Given the description of an element on the screen output the (x, y) to click on. 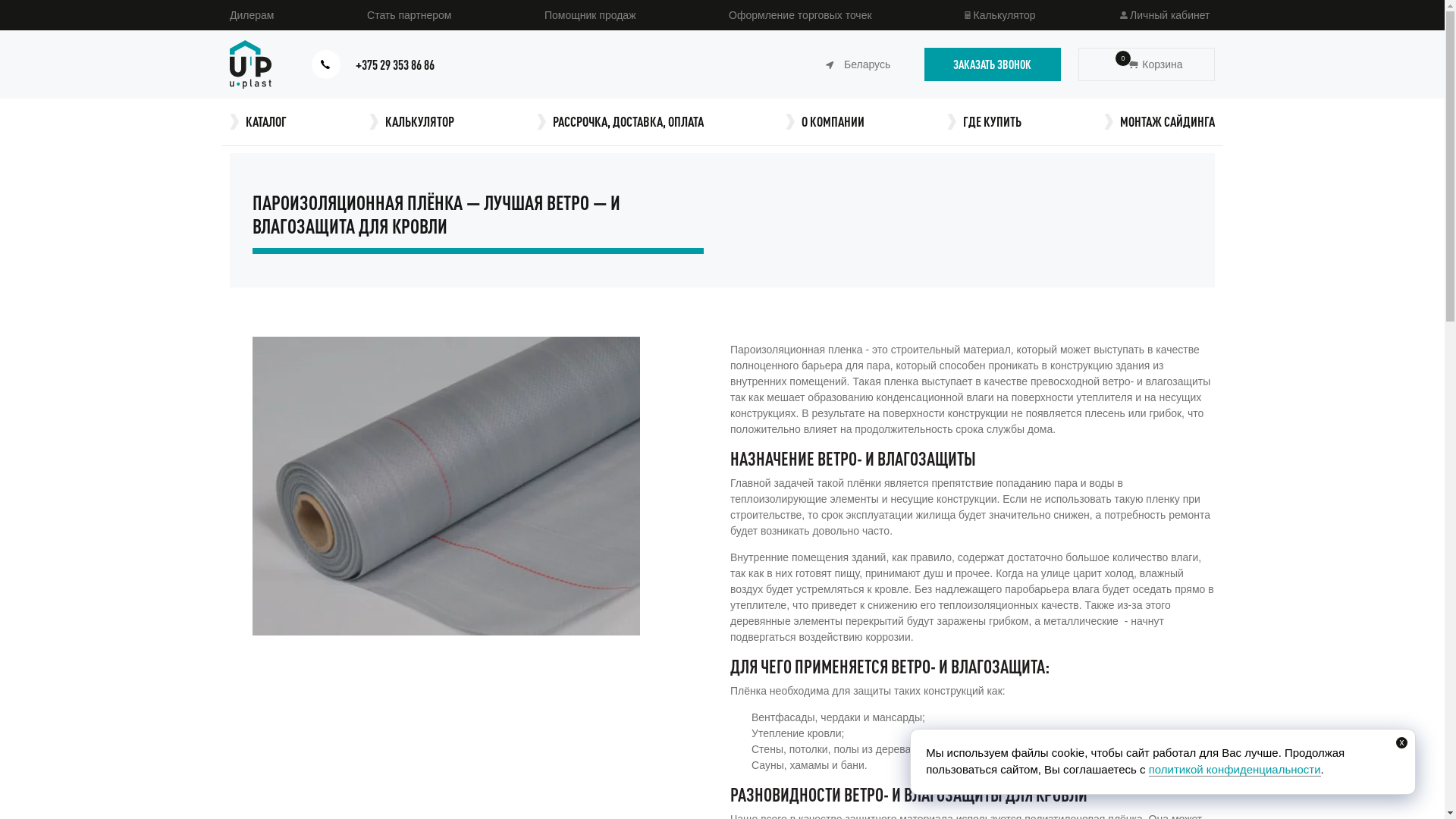
+375 29 353 86 86 Element type: text (402, 64)
x Element type: text (1401, 742)
